Given the description of an element on the screen output the (x, y) to click on. 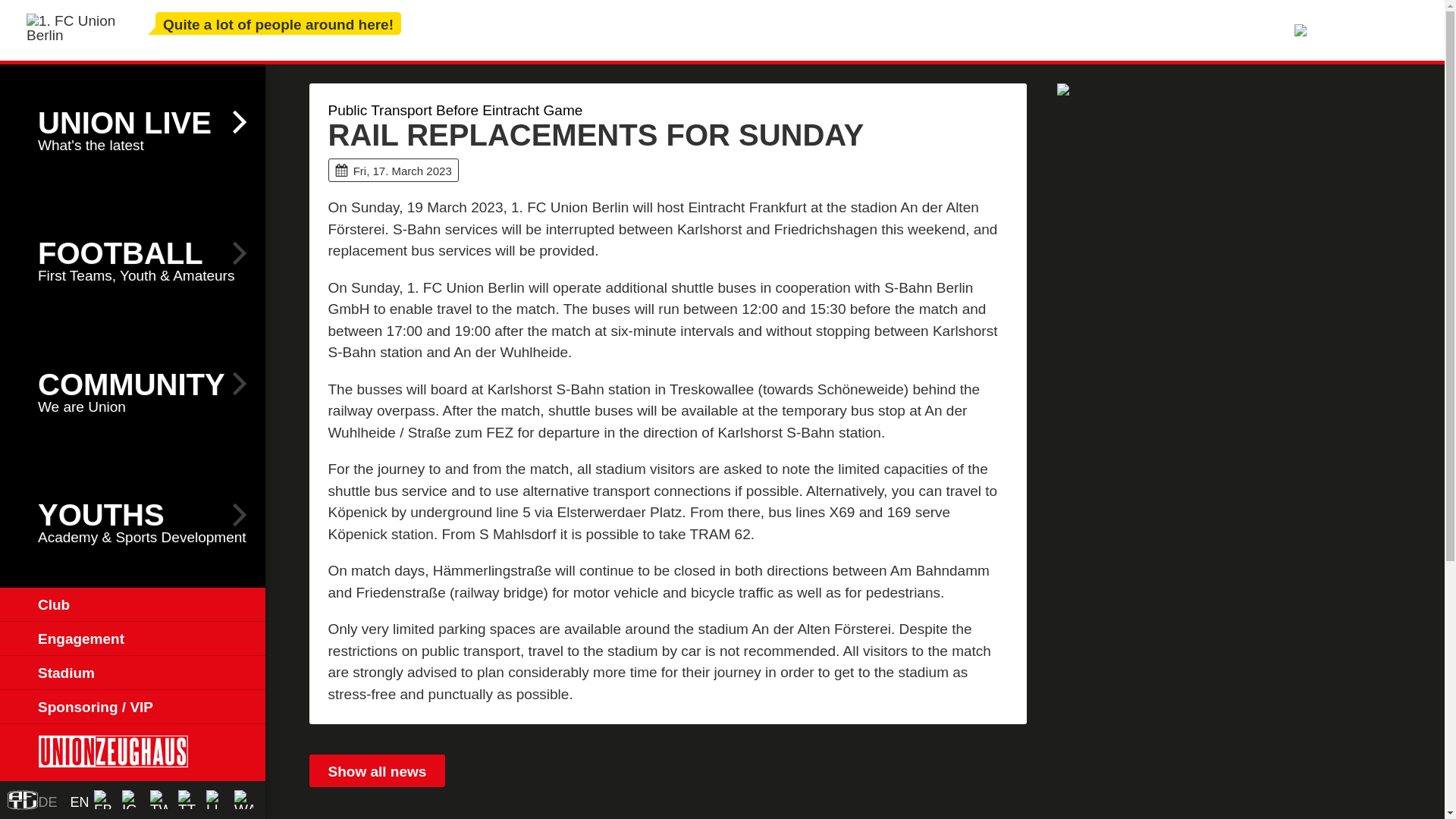
DE (47, 801)
Show all news (376, 770)
Engagement (132, 638)
Stadium (132, 672)
Club (132, 391)
